Given the description of an element on the screen output the (x, y) to click on. 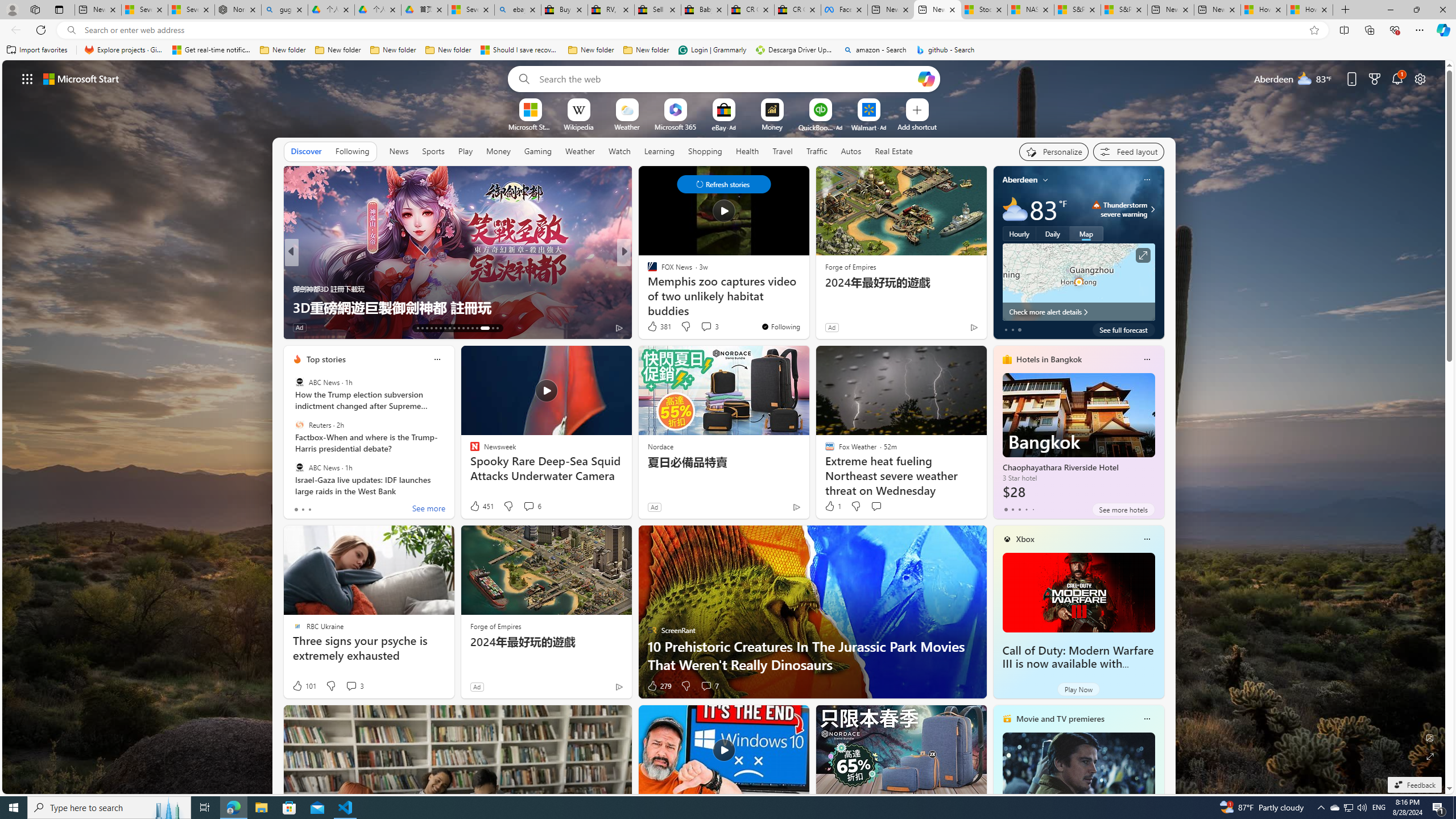
View comments 7 Comment (709, 685)
Map (1085, 233)
Larger map  (1077, 282)
Baby Keepsakes & Announcements for sale | eBay (703, 9)
tab-2 (1019, 509)
1 Like (831, 505)
Expand background (1430, 756)
AutomationID: tab-29 (497, 328)
News (398, 151)
View comments 3 Comment (354, 685)
Page settings (1420, 78)
AutomationID: tab-28 (489, 328)
Check more alert details (1077, 311)
AutomationID: tab-22 (458, 328)
My location (1045, 179)
